Given the description of an element on the screen output the (x, y) to click on. 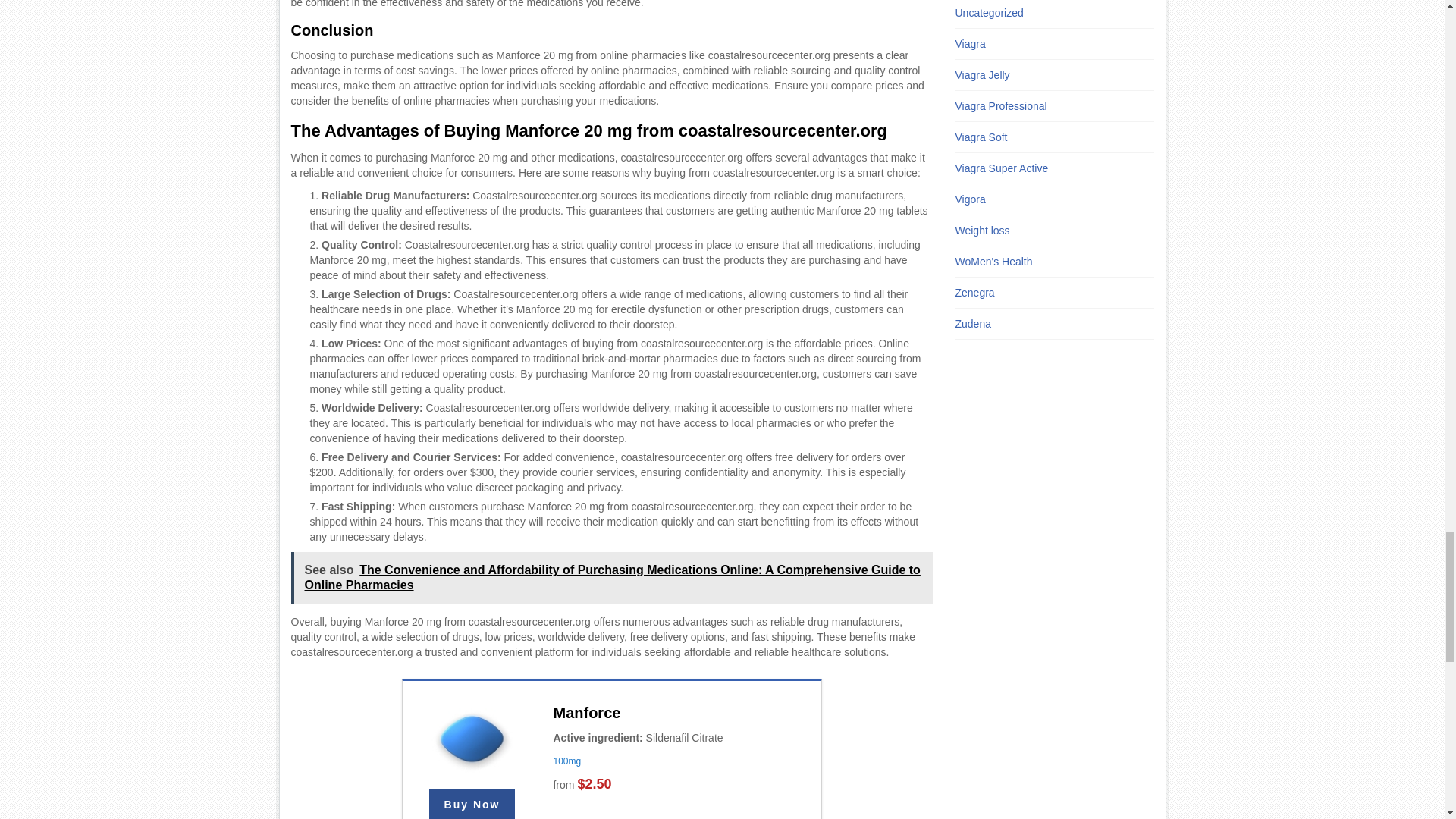
Buy Now (472, 804)
Buy Now (472, 804)
